Given the description of an element on the screen output the (x, y) to click on. 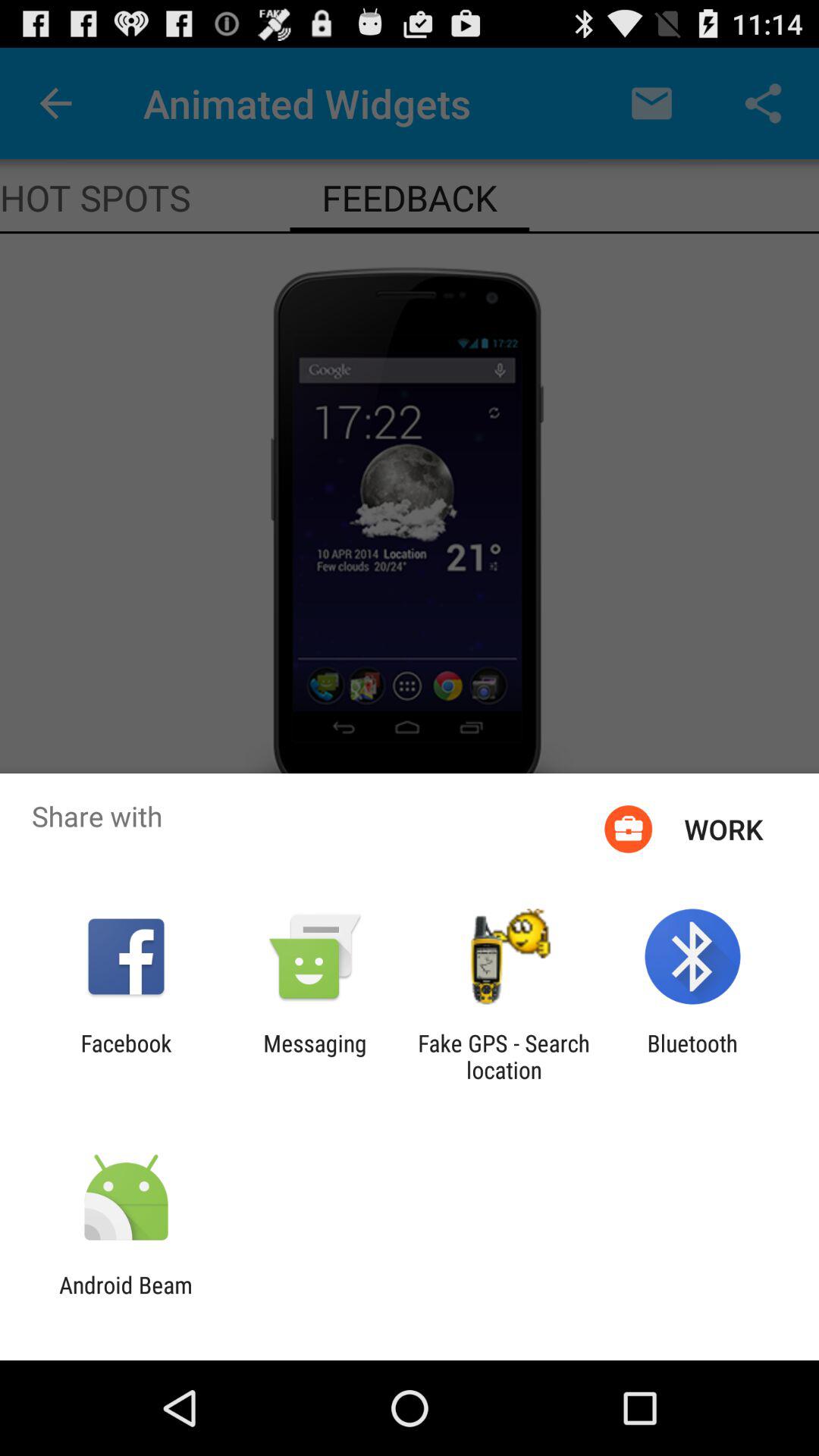
click the icon to the right of the messaging icon (503, 1056)
